Given the description of an element on the screen output the (x, y) to click on. 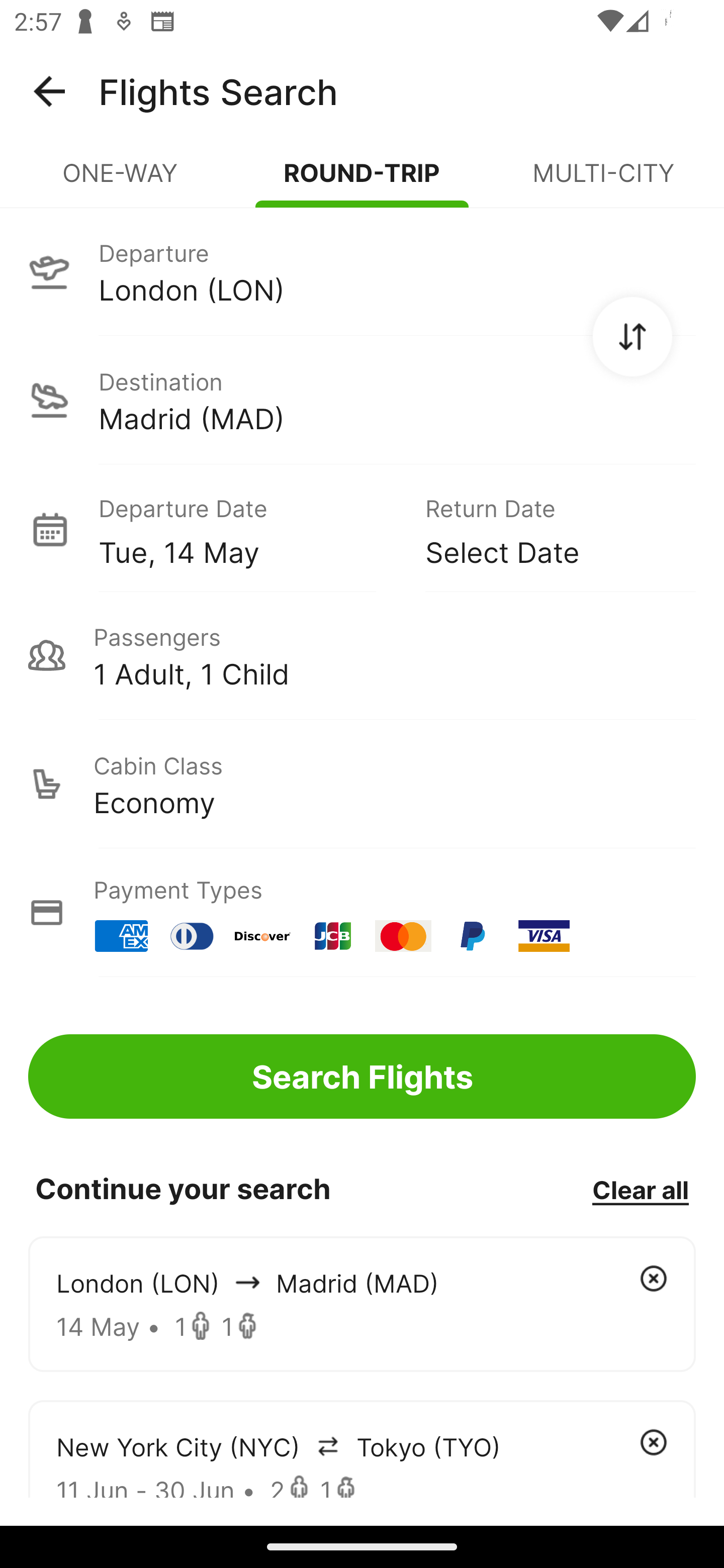
ONE-WAY (120, 180)
ROUND-TRIP (361, 180)
MULTI-CITY (603, 180)
Departure London (LON) (362, 270)
Destination Madrid (MAD) (362, 400)
Departure Date Tue, 14 May (247, 528)
Return Date Select Date (546, 528)
Passengers 1 Adult, 1 Child (362, 655)
Cabin Class Economy (362, 783)
Payment Types (362, 912)
Search Flights (361, 1075)
Clear all (640, 1189)
